Given the description of an element on the screen output the (x, y) to click on. 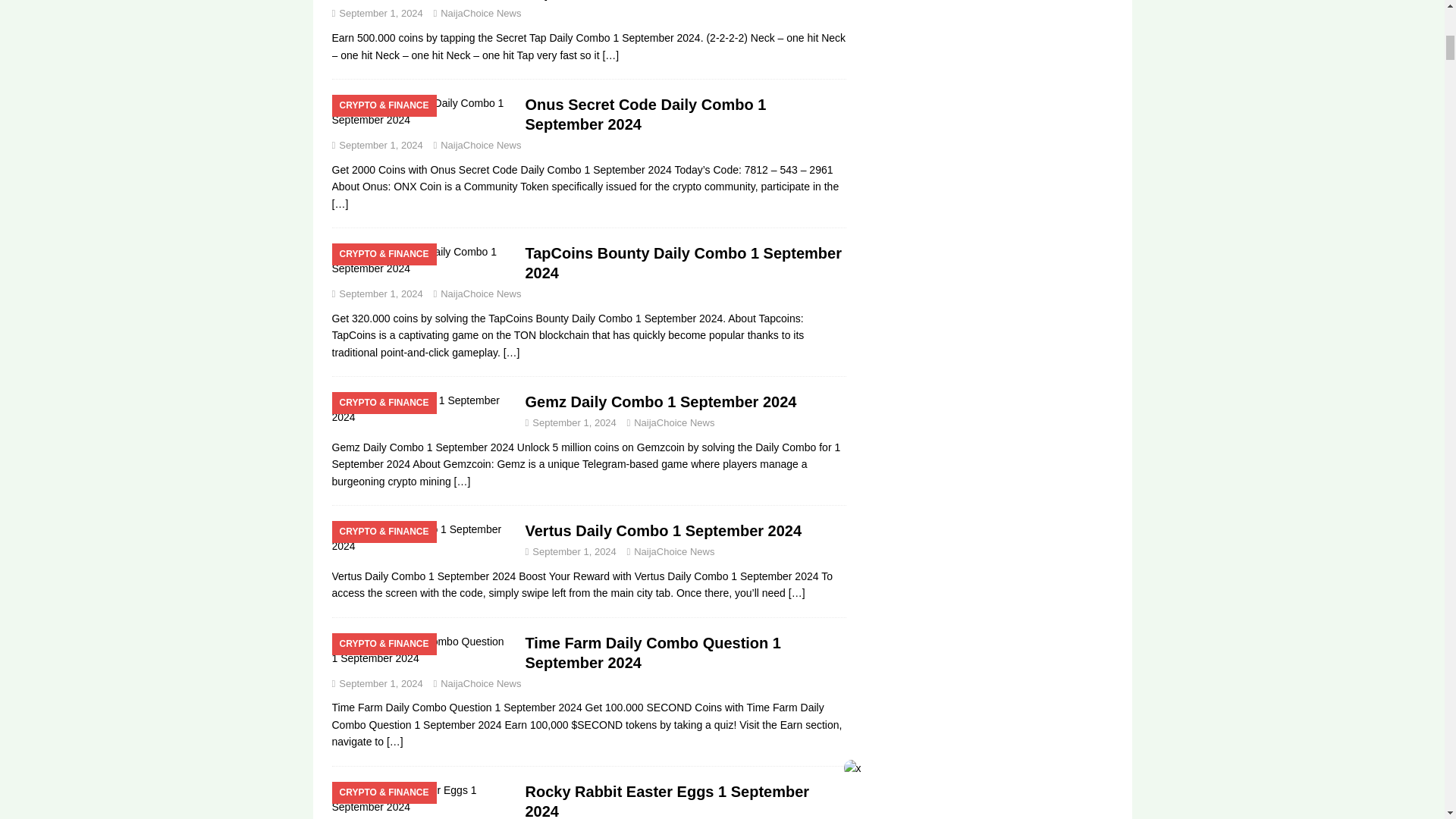
September 1, 2024 (381, 12)
Onus Secret Code Daily Combo 1 September 2024 4 (421, 111)
Memefi Secret Tap Daily Combo Reward 1 September 2024 (610, 55)
